Given the description of an element on the screen output the (x, y) to click on. 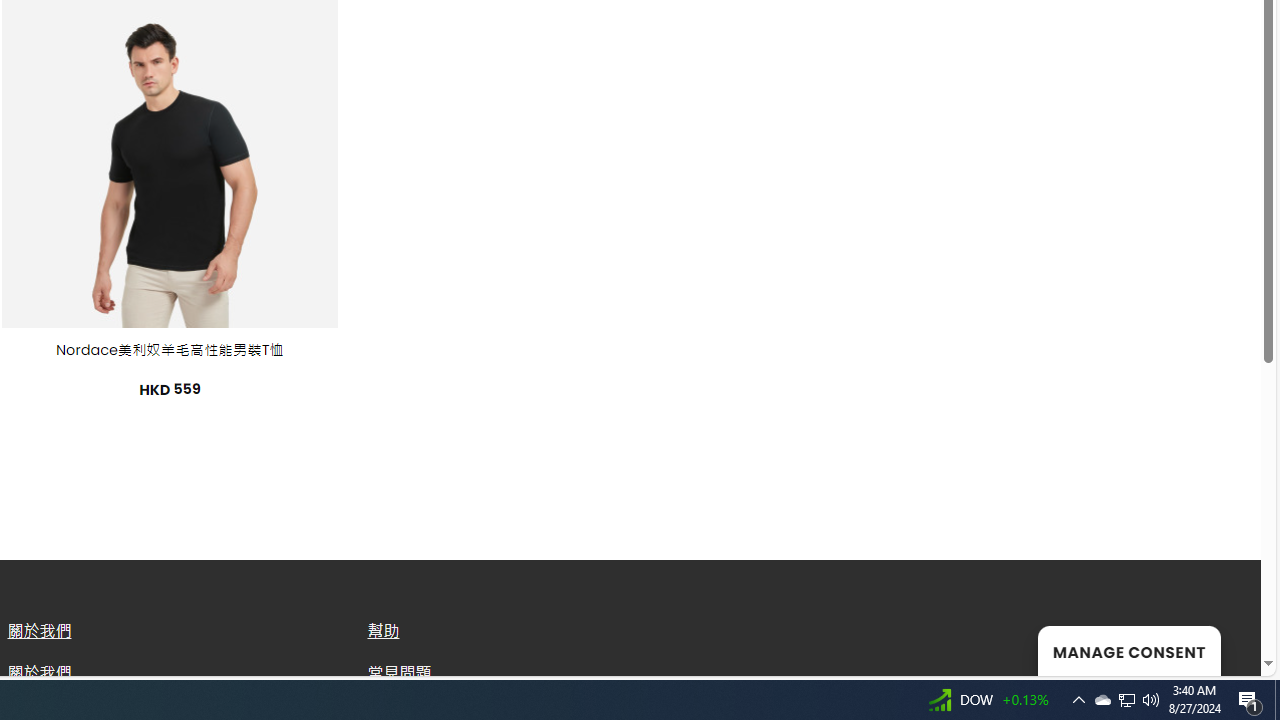
MANAGE CONSENT (1128, 650)
Go to top (1220, 647)
